Given the description of an element on the screen output the (x, y) to click on. 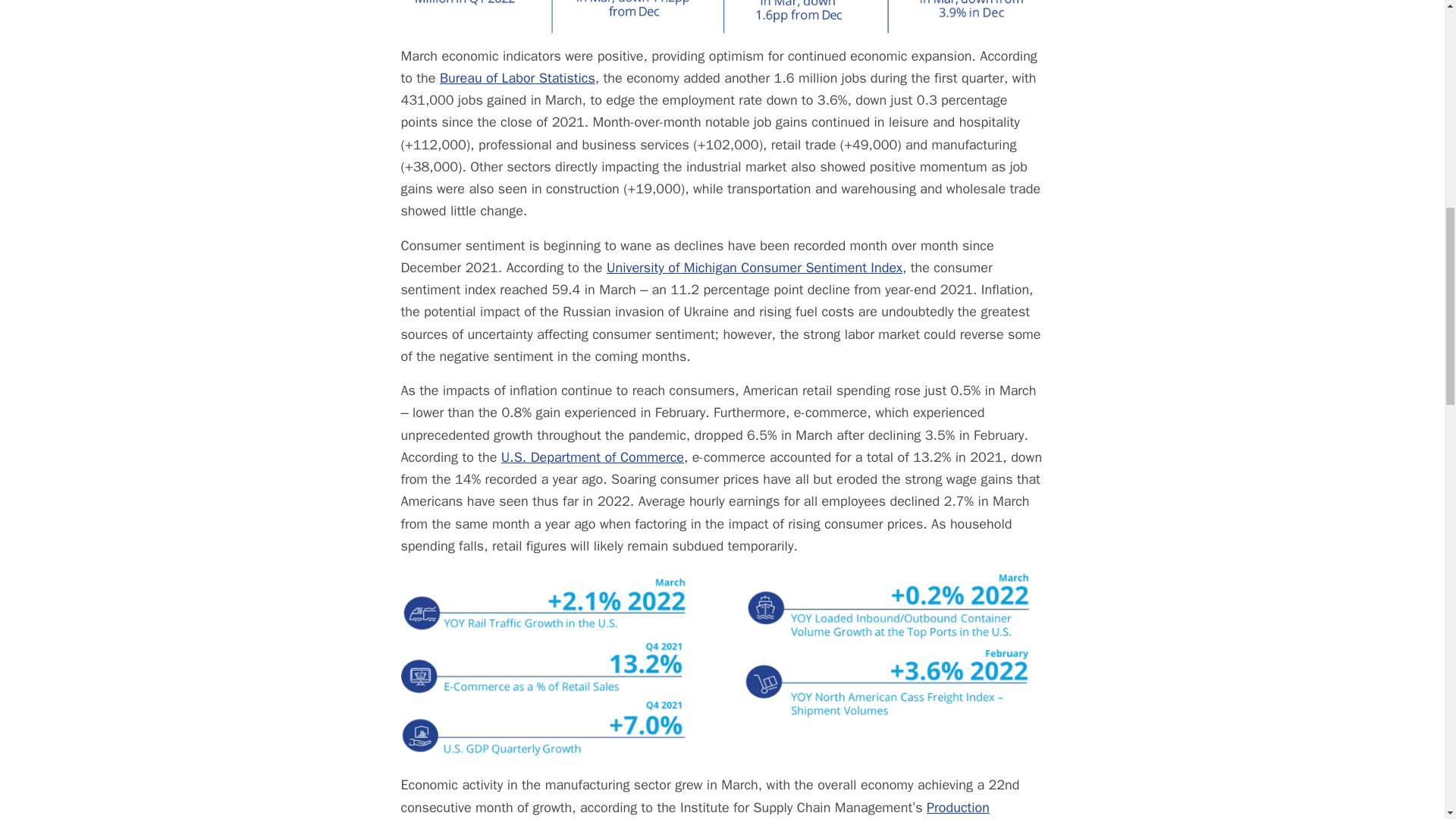
University of Michigan Consumer Sentiment Index (754, 267)
U.S. Department of Commerce (592, 457)
Bureau of Labor Statistics (517, 77)
